Given the description of an element on the screen output the (x, y) to click on. 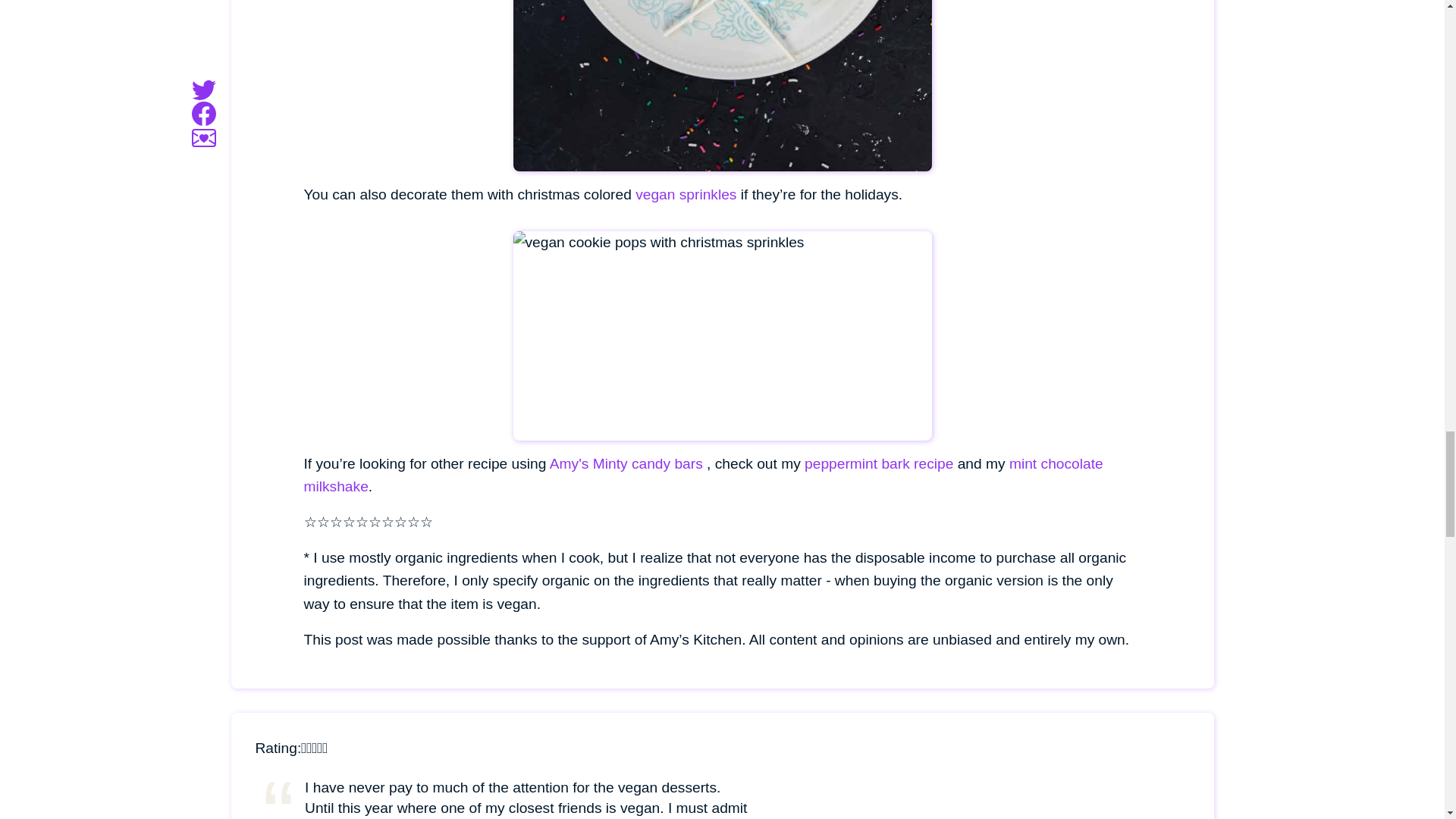
mint chocolate milkshake (702, 474)
peppermint bark recipe (879, 462)
vegan sprinkles (685, 194)
Amy's Minty candy bars (626, 462)
